Given the description of an element on the screen output the (x, y) to click on. 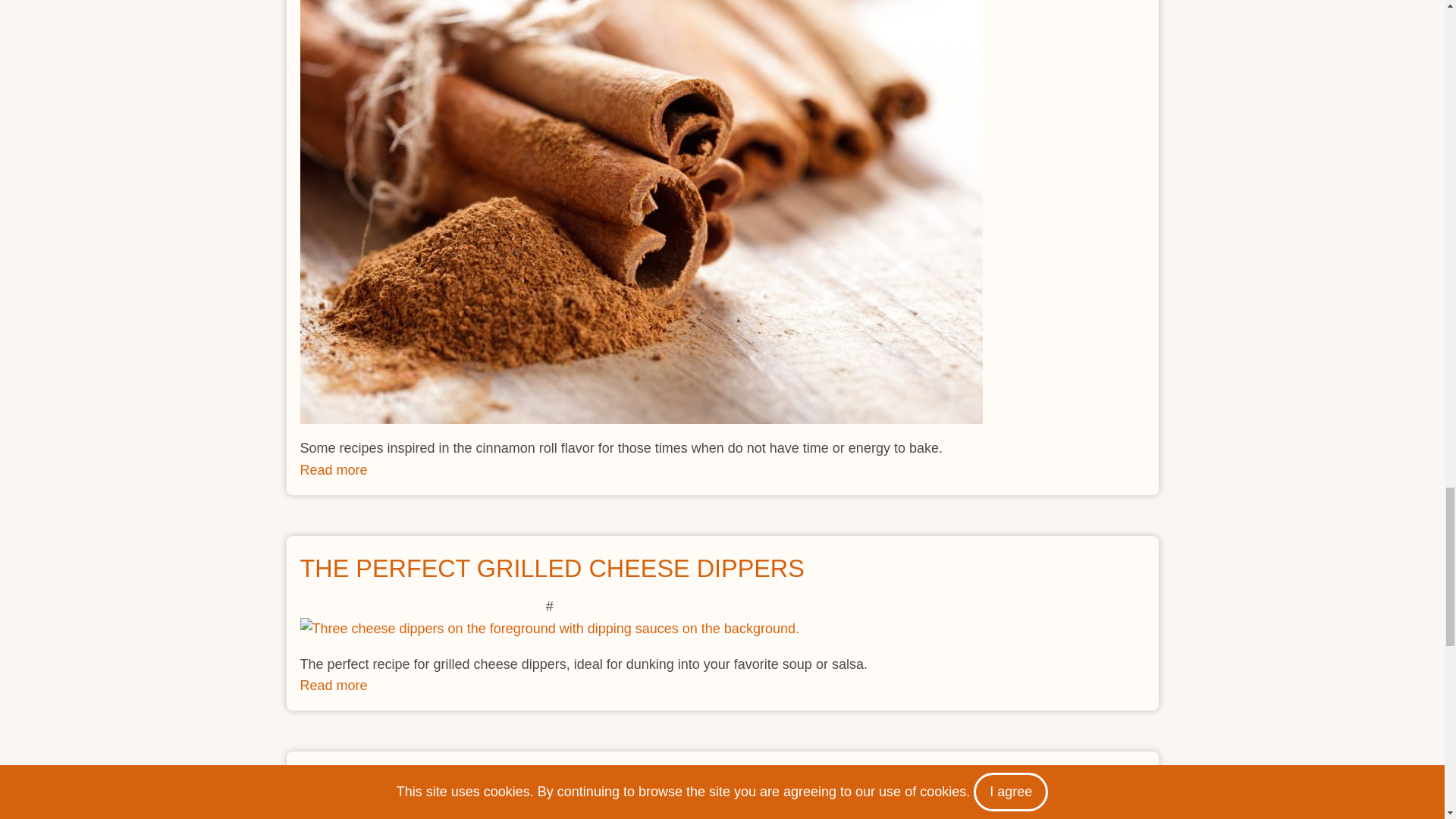
The perfect grilled cheese dippers (333, 685)
Delicious no-bake cinnamon rolls (333, 469)
HOCUS POCUS SNACKS (445, 783)
cheese dippers (549, 628)
THE PERFECT GRILLED CHEESE DIPPERS (333, 469)
